Given the description of an element on the screen output the (x, y) to click on. 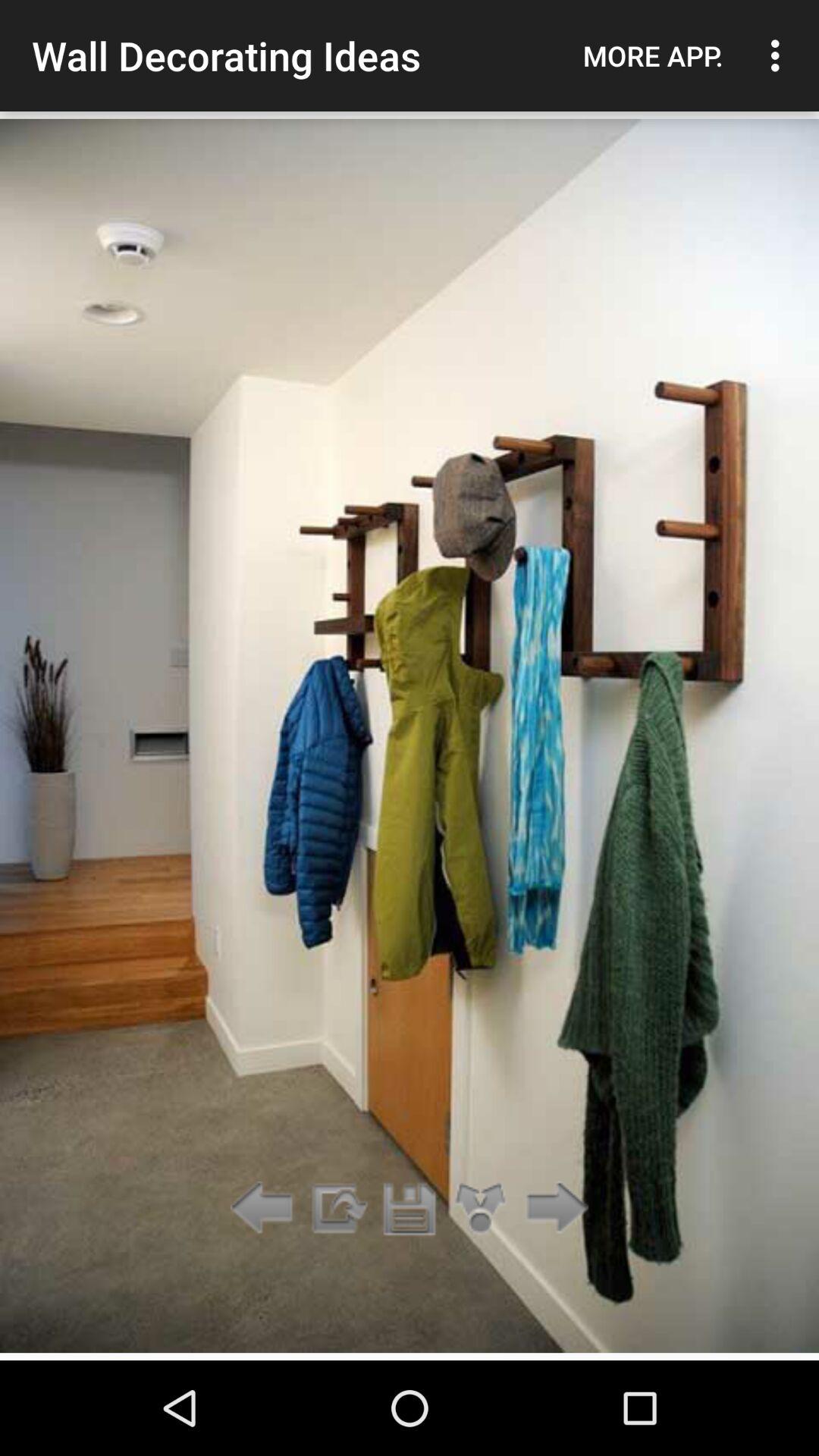
turn off icon at the bottom right corner (552, 1209)
